Given the description of an element on the screen output the (x, y) to click on. 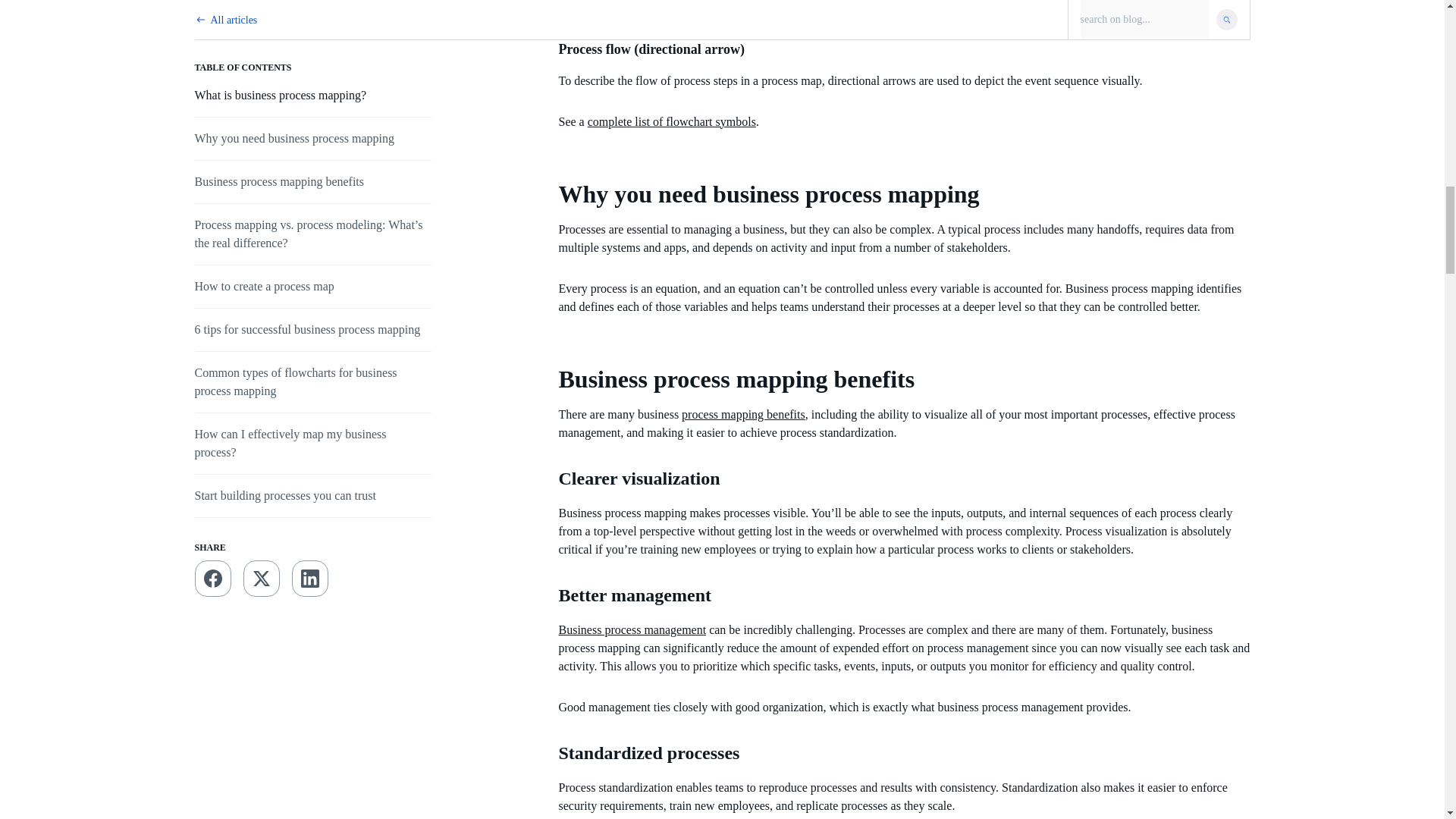
Business process management (631, 629)
process mapping benefits (743, 413)
complete list of flowchart symbols (671, 121)
